Given the description of an element on the screen output the (x, y) to click on. 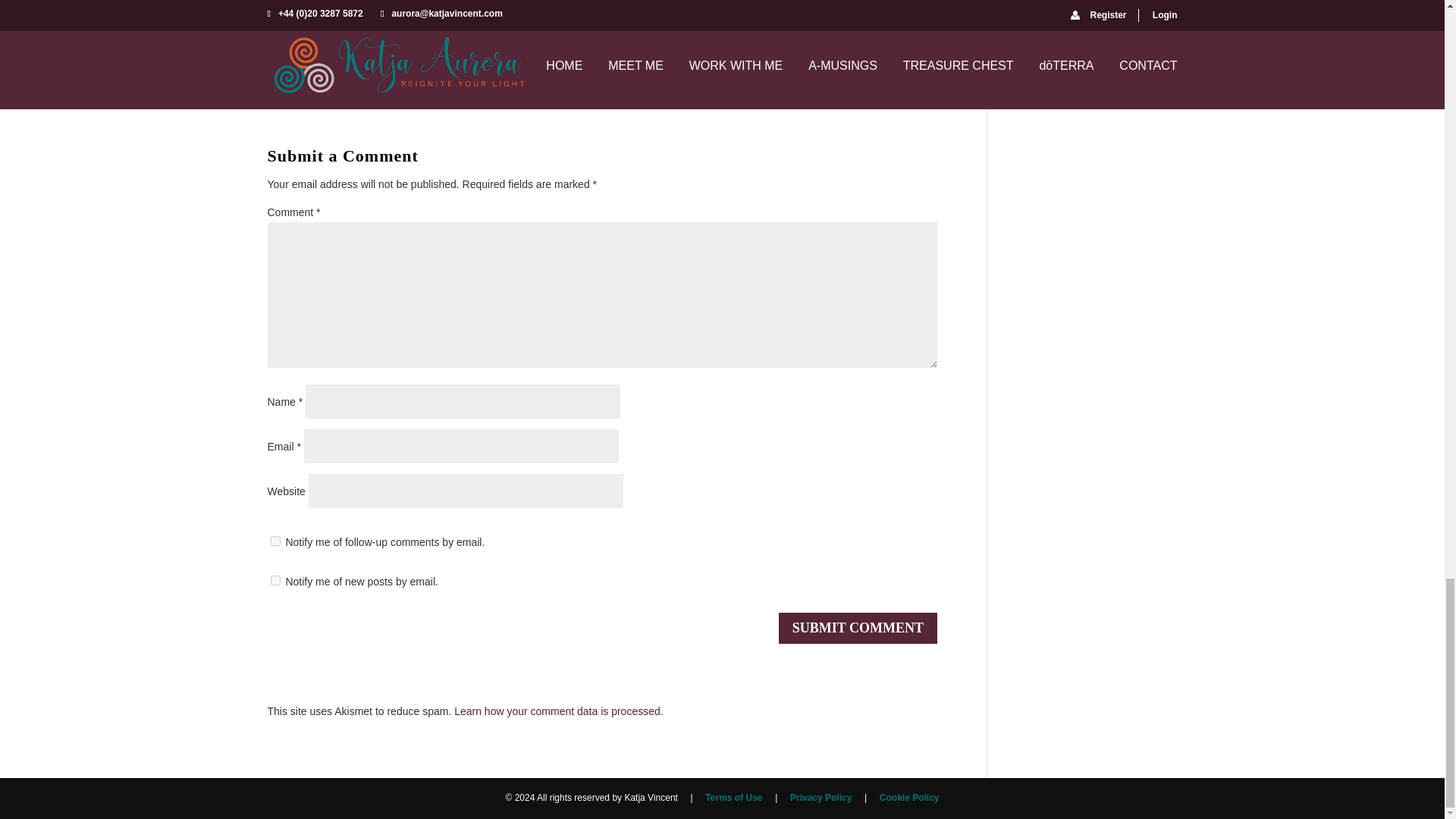
subscribe (274, 541)
subscribe (274, 580)
Submit Comment (857, 627)
Submit Comment (857, 627)
Learn how your comment data is processed (557, 711)
Terms of Use (732, 797)
